Given the description of an element on the screen output the (x, y) to click on. 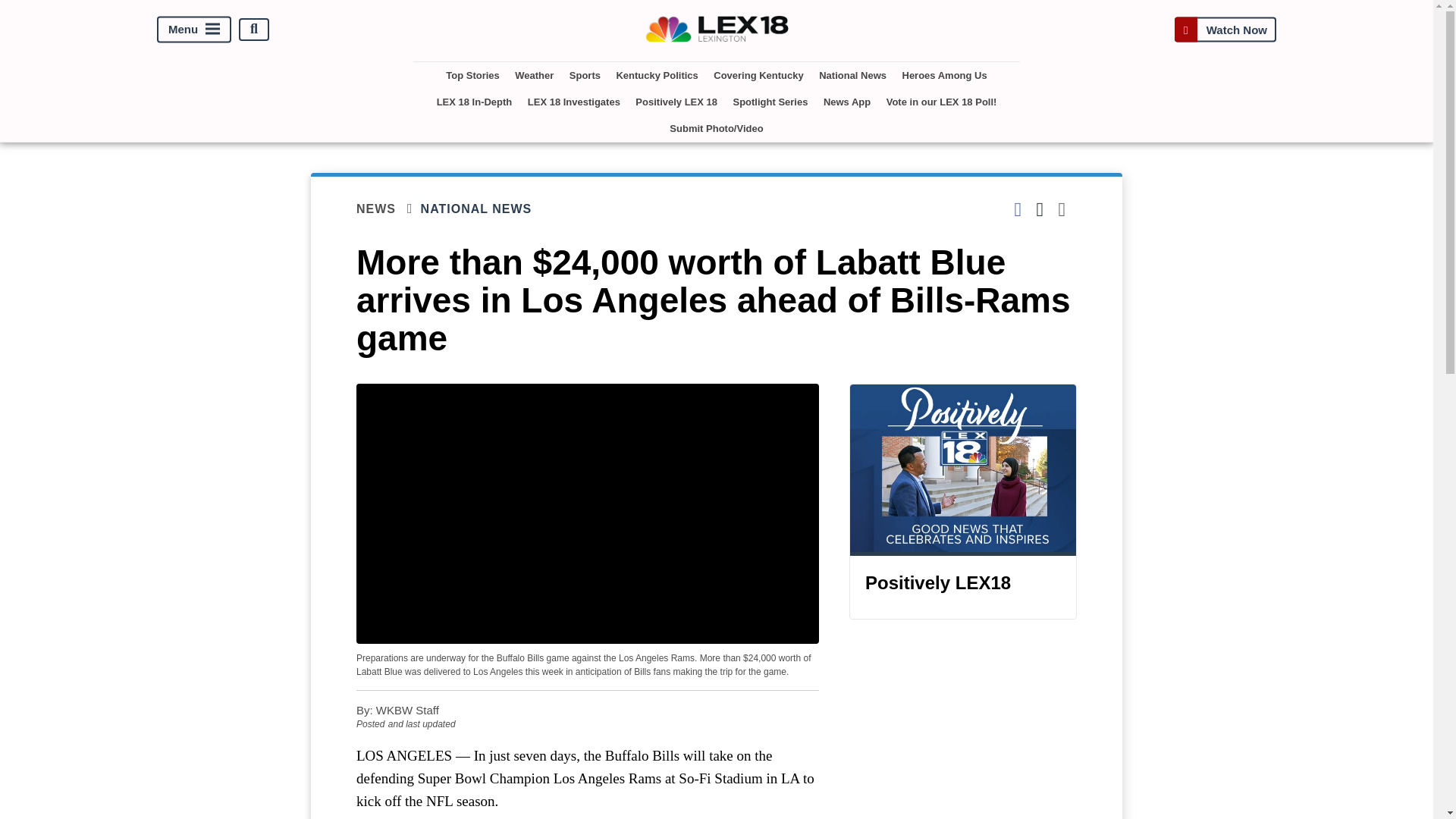
Menu (194, 28)
Watch Now (1224, 29)
